Given the description of an element on the screen output the (x, y) to click on. 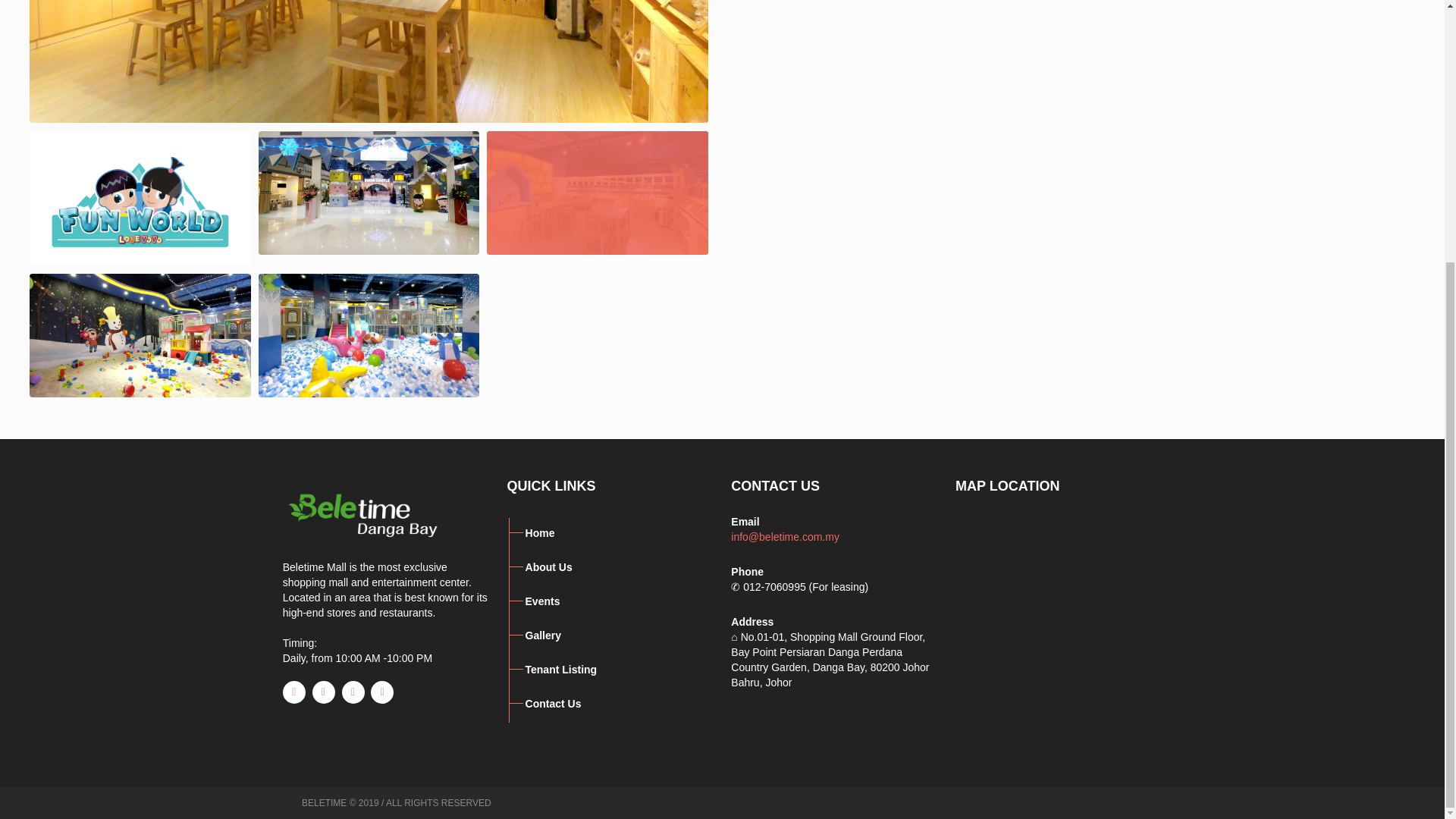
Gallery (612, 634)
About Us (612, 567)
Events (612, 601)
WhatsApp (382, 691)
WeChat (323, 691)
Contact Us (612, 703)
Home (612, 532)
Instagram (353, 691)
Facebook (293, 691)
Tenant Listing (612, 669)
